Given the description of an element on the screen output the (x, y) to click on. 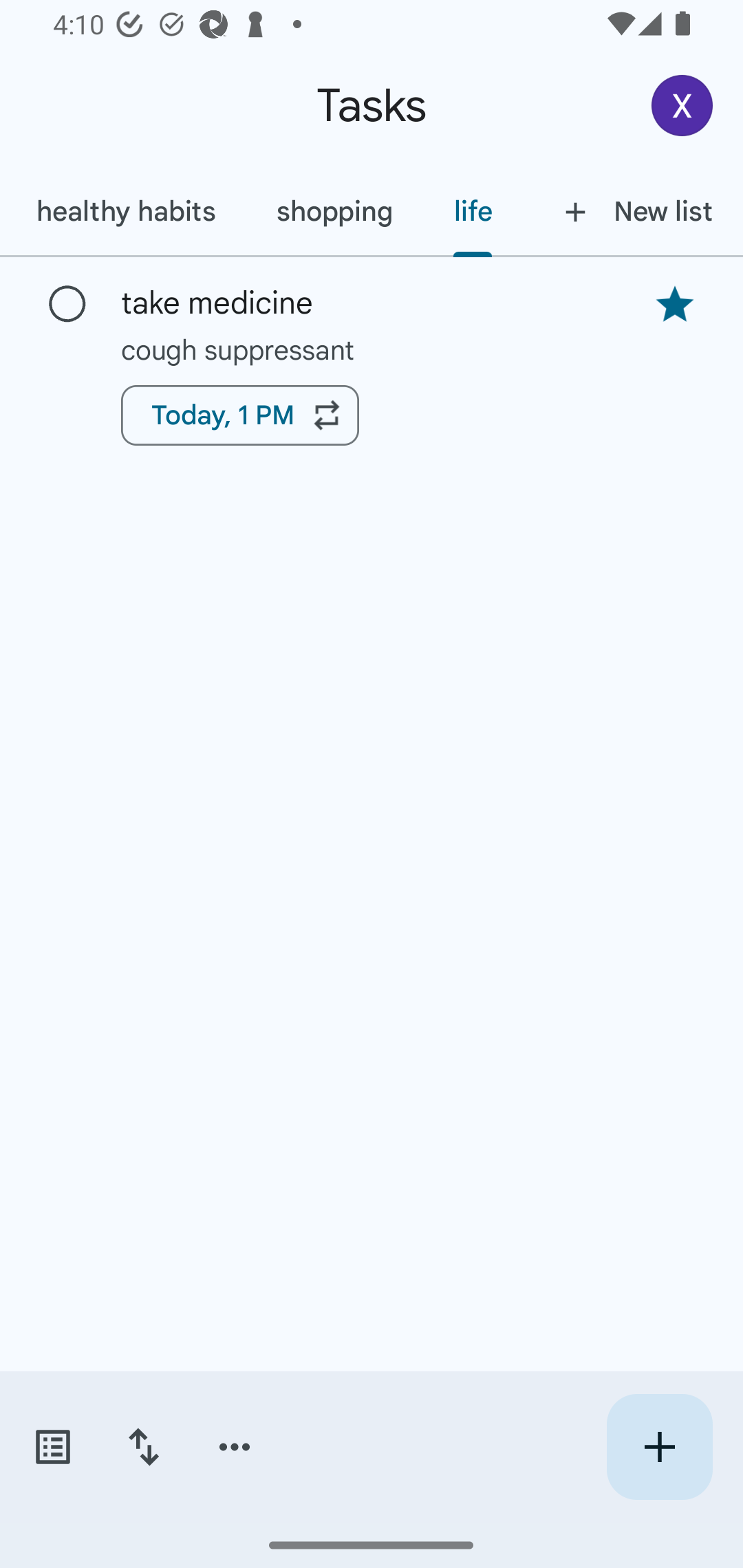
healthy habits (125, 211)
shopping (333, 211)
New list (632, 211)
Remove star (674, 303)
Mark as complete (67, 304)
cough suppressant (371, 349)
Today, 1 PM (239, 415)
Switch task lists (52, 1447)
Create new task (659, 1446)
Change sort order (143, 1446)
More options (234, 1446)
